Given the description of an element on the screen output the (x, y) to click on. 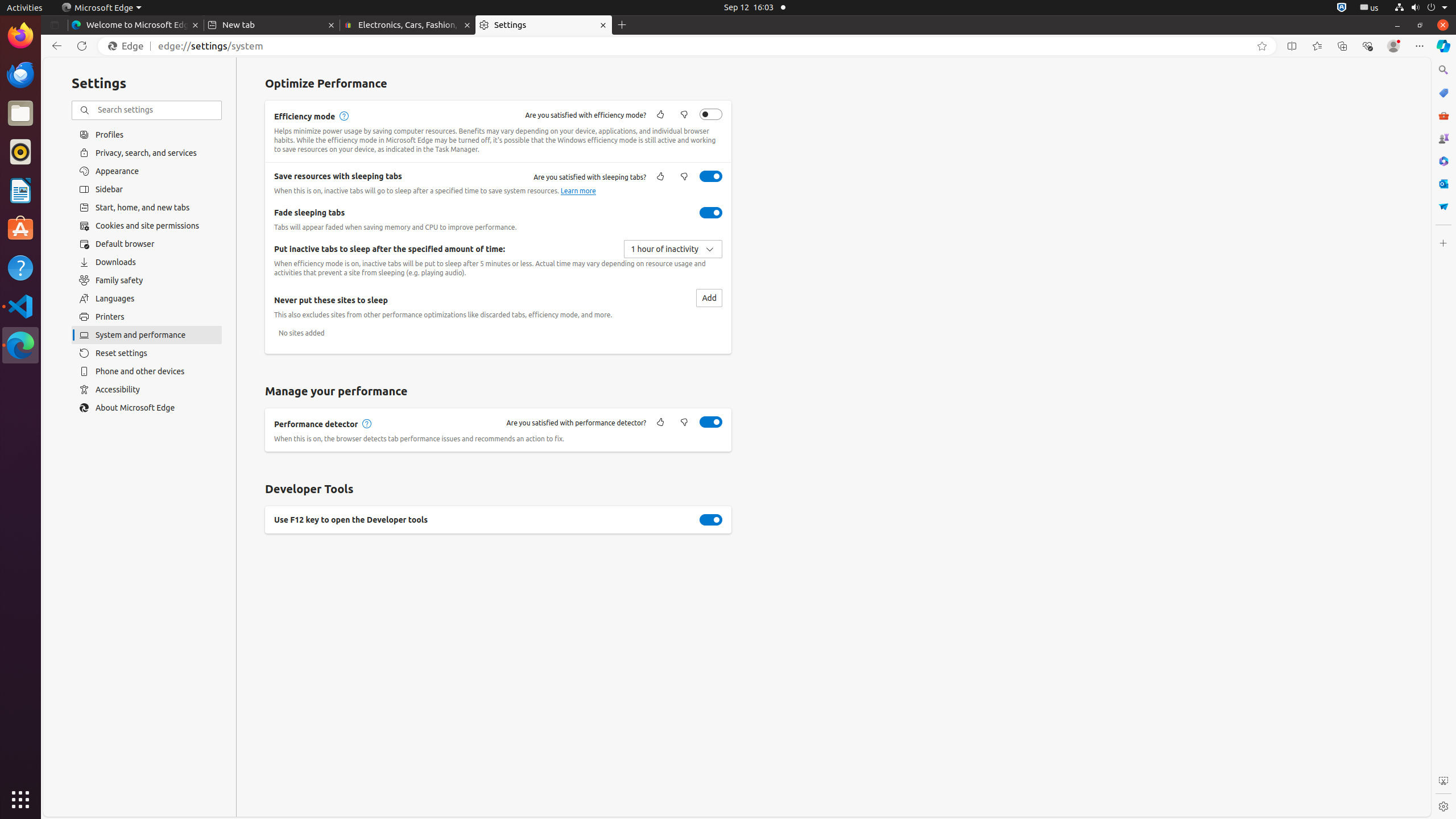
Save resources with sleeping tabs Element type: check-box (710, 176)
Efficiency mode, learn more Element type: push-button (342, 116)
Performance detector, learn more Element type: push-button (365, 424)
About Microsoft Edge Element type: tree-item (146, 407)
Microsoft Edge Element type: menu (101, 7)
